Given the description of an element on the screen output the (x, y) to click on. 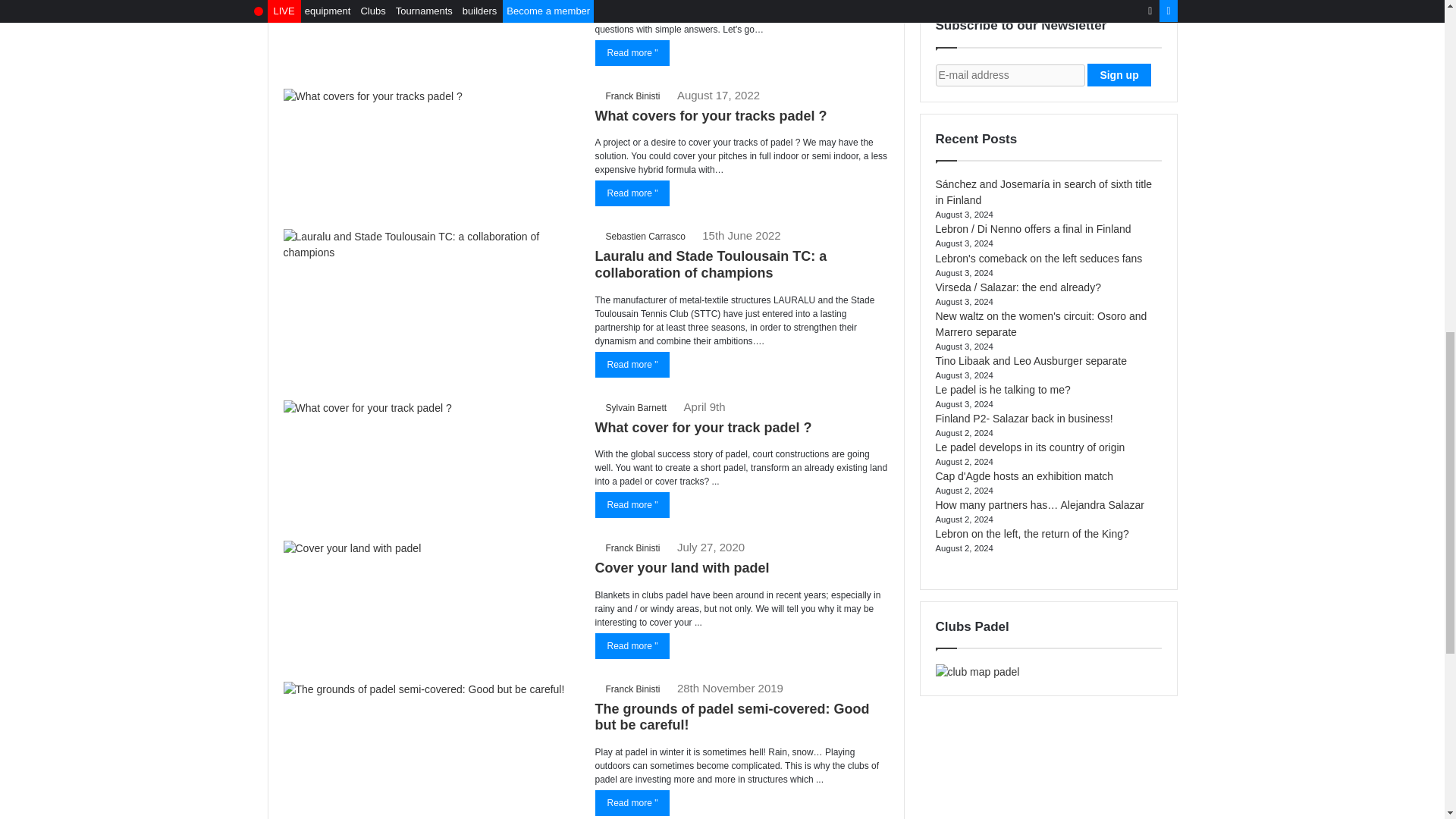
Sign up (1118, 74)
